Given the description of an element on the screen output the (x, y) to click on. 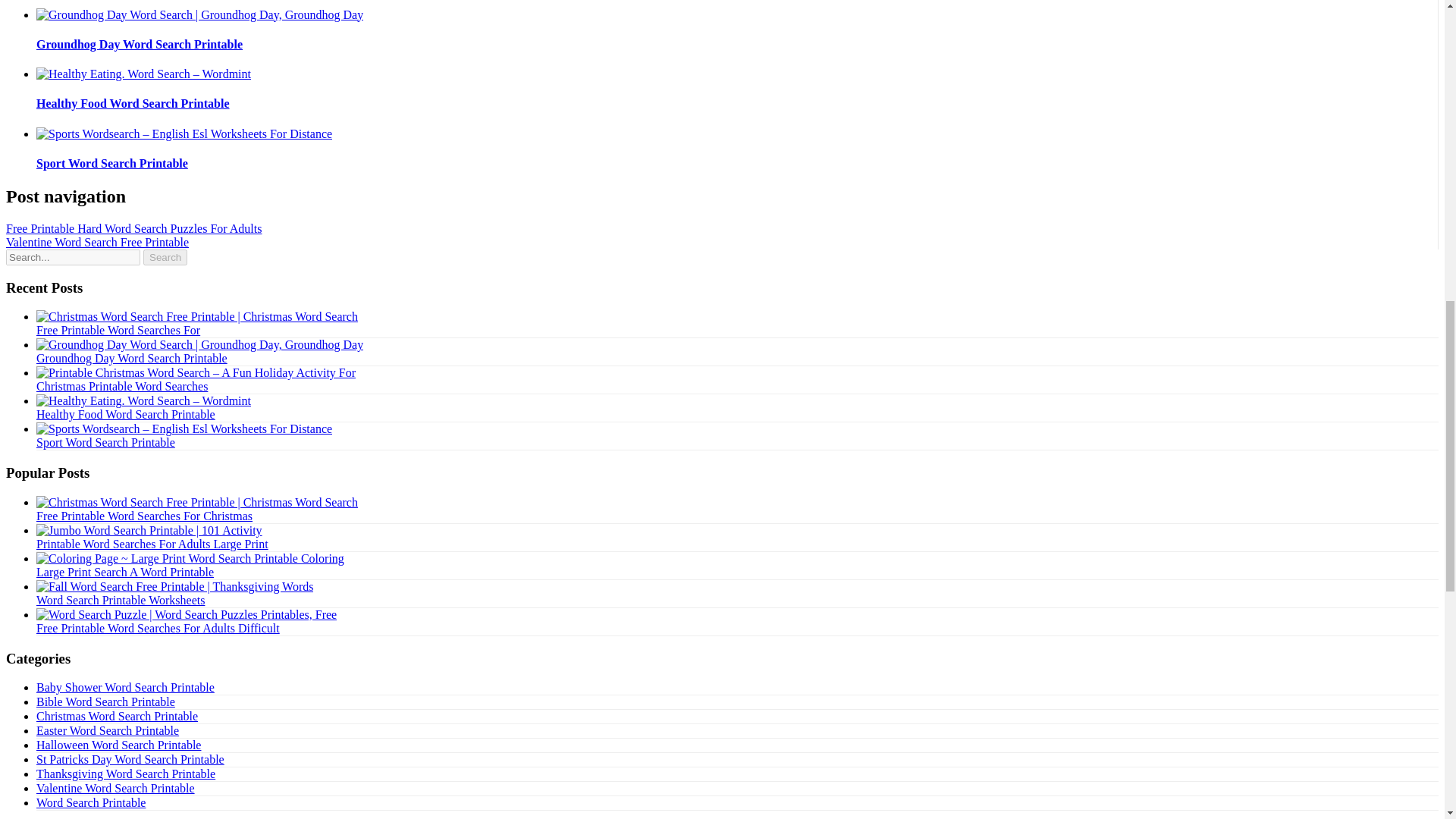
Healthy Food Word Search Printable (133, 103)
Sport Word Search Printable (111, 163)
Search (164, 257)
Search (164, 257)
Healthy Food Word Search Printable (133, 103)
Valentine Word Search Free Printable (97, 241)
Free Printable Word Searches For (118, 329)
Free Printable Hard Word Search Puzzles For Adults (133, 228)
Groundhog Day Word Search Printable (131, 358)
Sport Word Search Printable (105, 441)
